Given the description of an element on the screen output the (x, y) to click on. 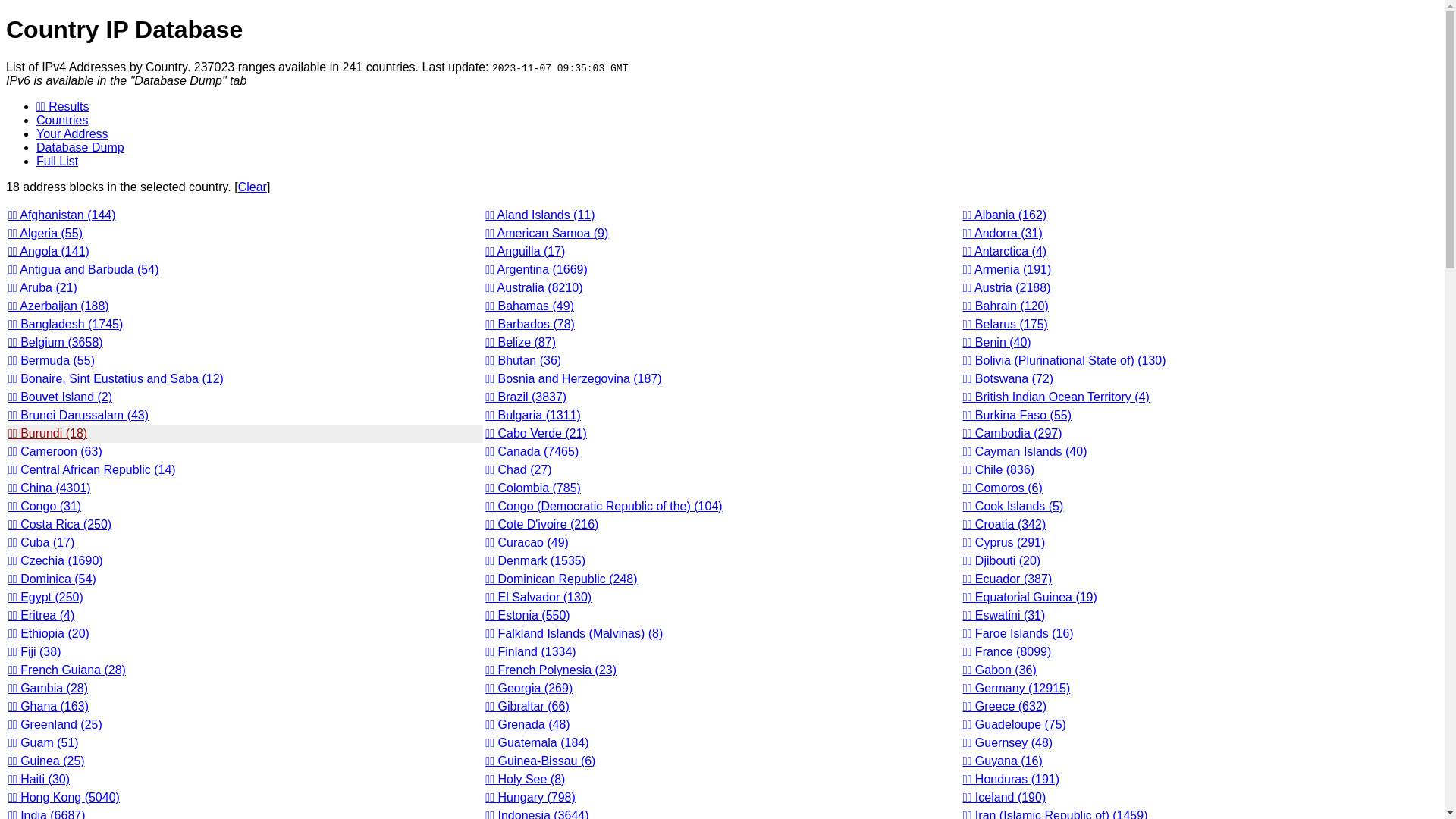
Database Dump Element type: text (80, 147)
Clear Element type: text (252, 186)
Your Address Element type: text (72, 133)
Countries Element type: text (61, 119)
Full List Element type: text (57, 160)
